Given the description of an element on the screen output the (x, y) to click on. 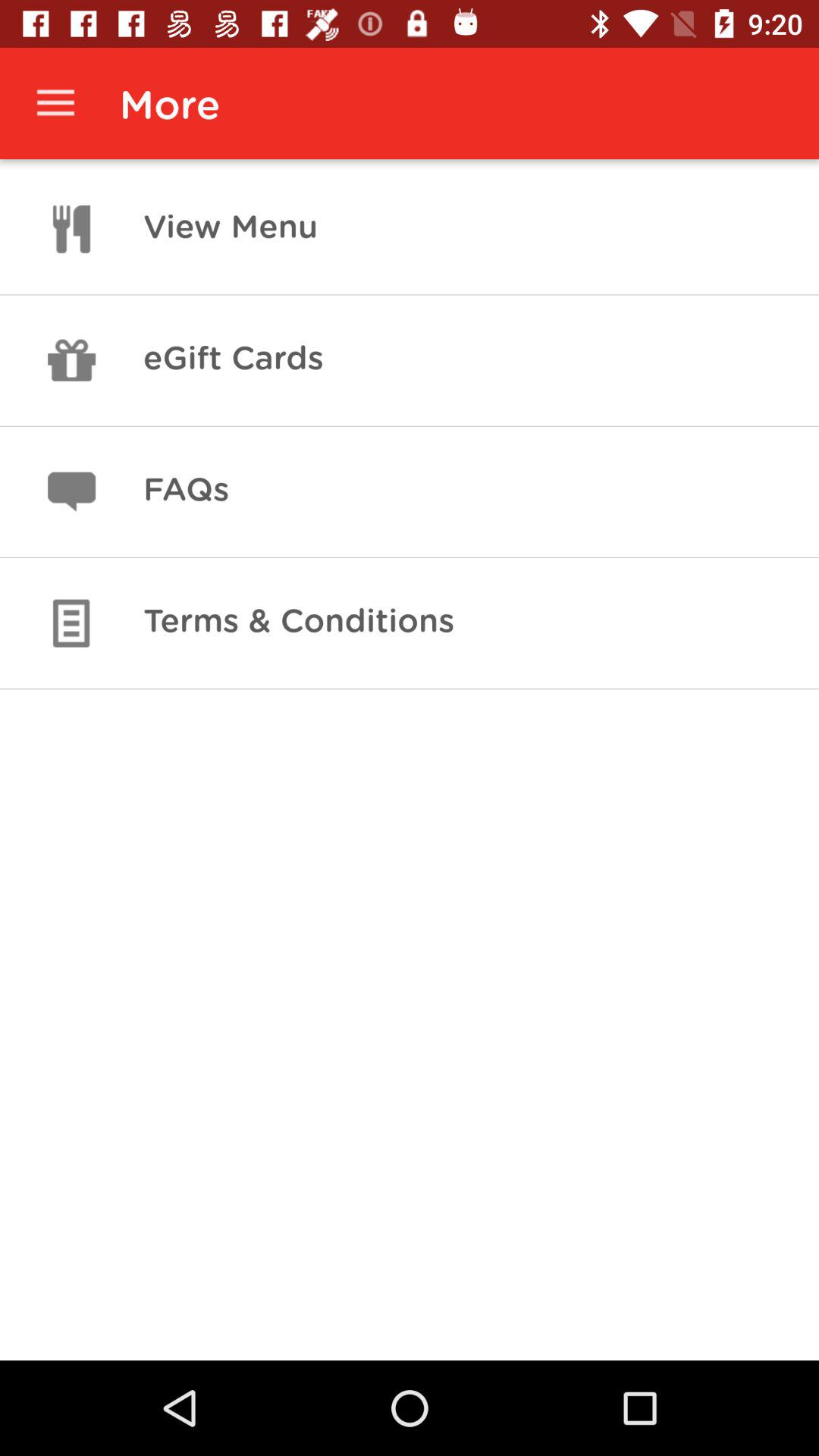
scroll to the faqs icon (186, 491)
